Given the description of an element on the screen output the (x, y) to click on. 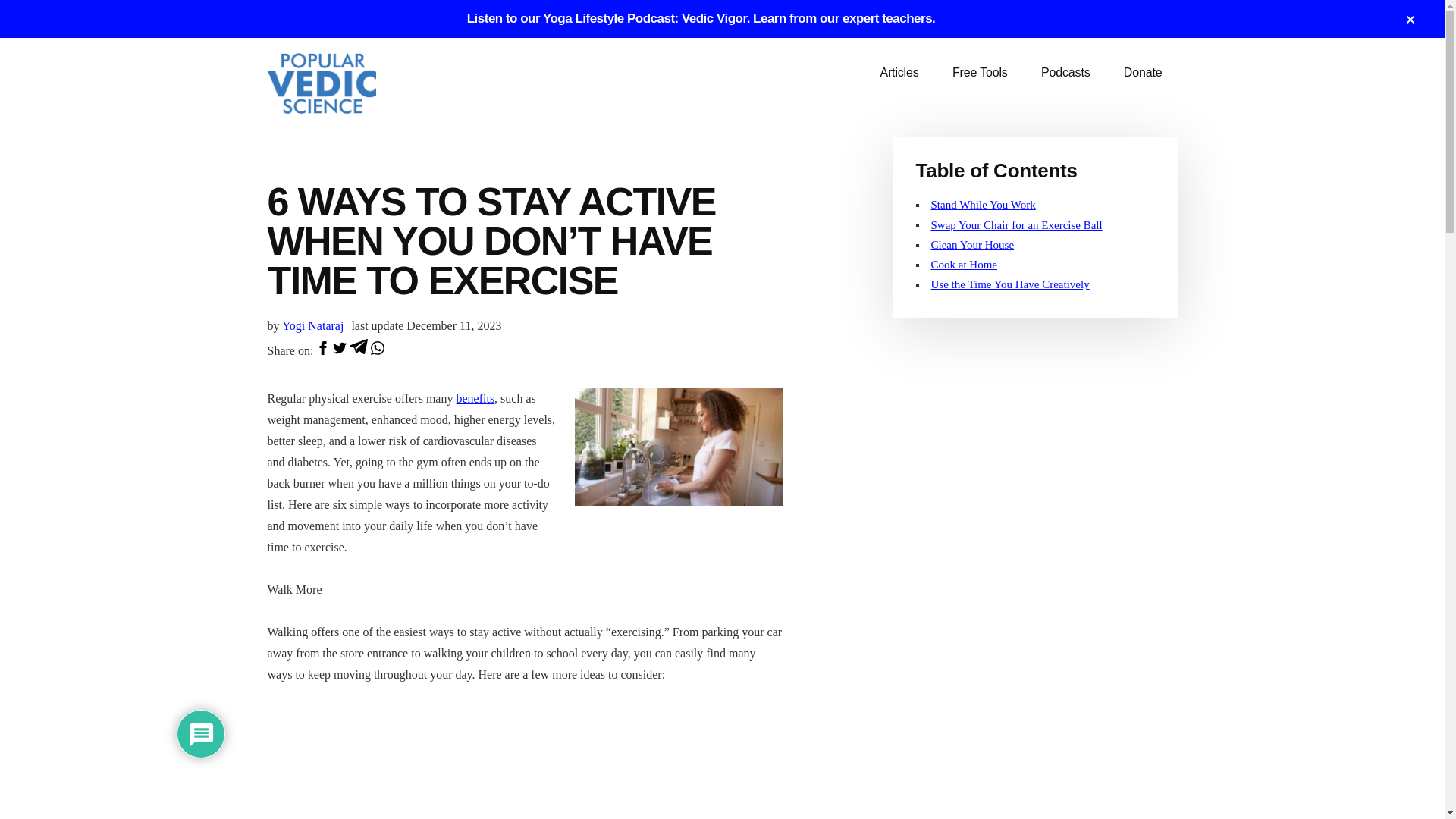
Popular Vedic Science (380, 83)
benefits (475, 398)
Free Tools (980, 72)
Yogi Nataraj (312, 325)
Podcasts (1065, 72)
Donate (1142, 72)
Articles (898, 72)
